Given the description of an element on the screen output the (x, y) to click on. 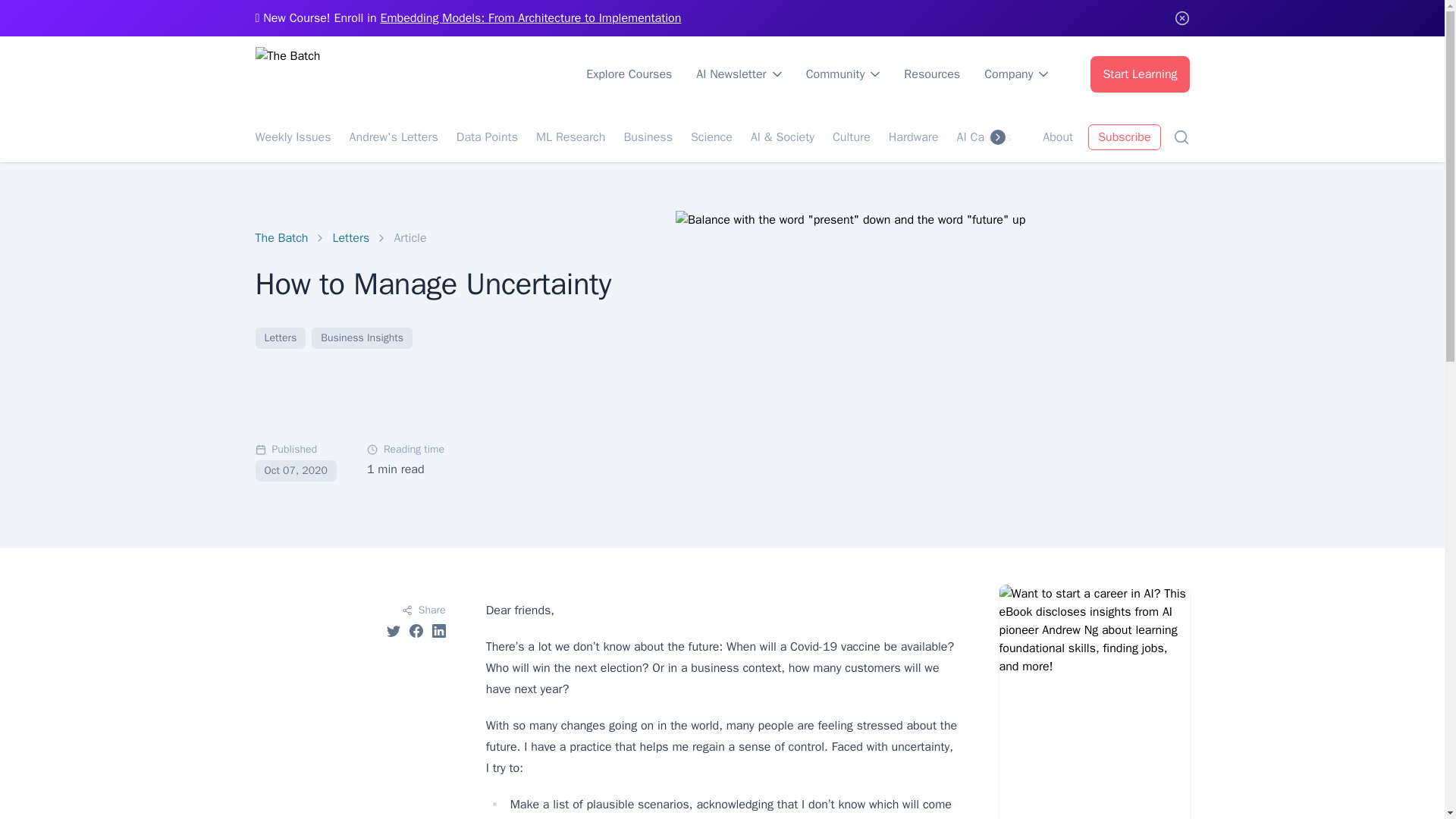
AI Careers (983, 137)
Explore Courses (628, 74)
Start Learning (1139, 74)
Weekly Issues (292, 137)
Resources (931, 74)
ML Research (570, 137)
The Batch (280, 238)
Article (409, 238)
AI Newsletter (738, 74)
Hardware (913, 137)
